Given the description of an element on the screen output the (x, y) to click on. 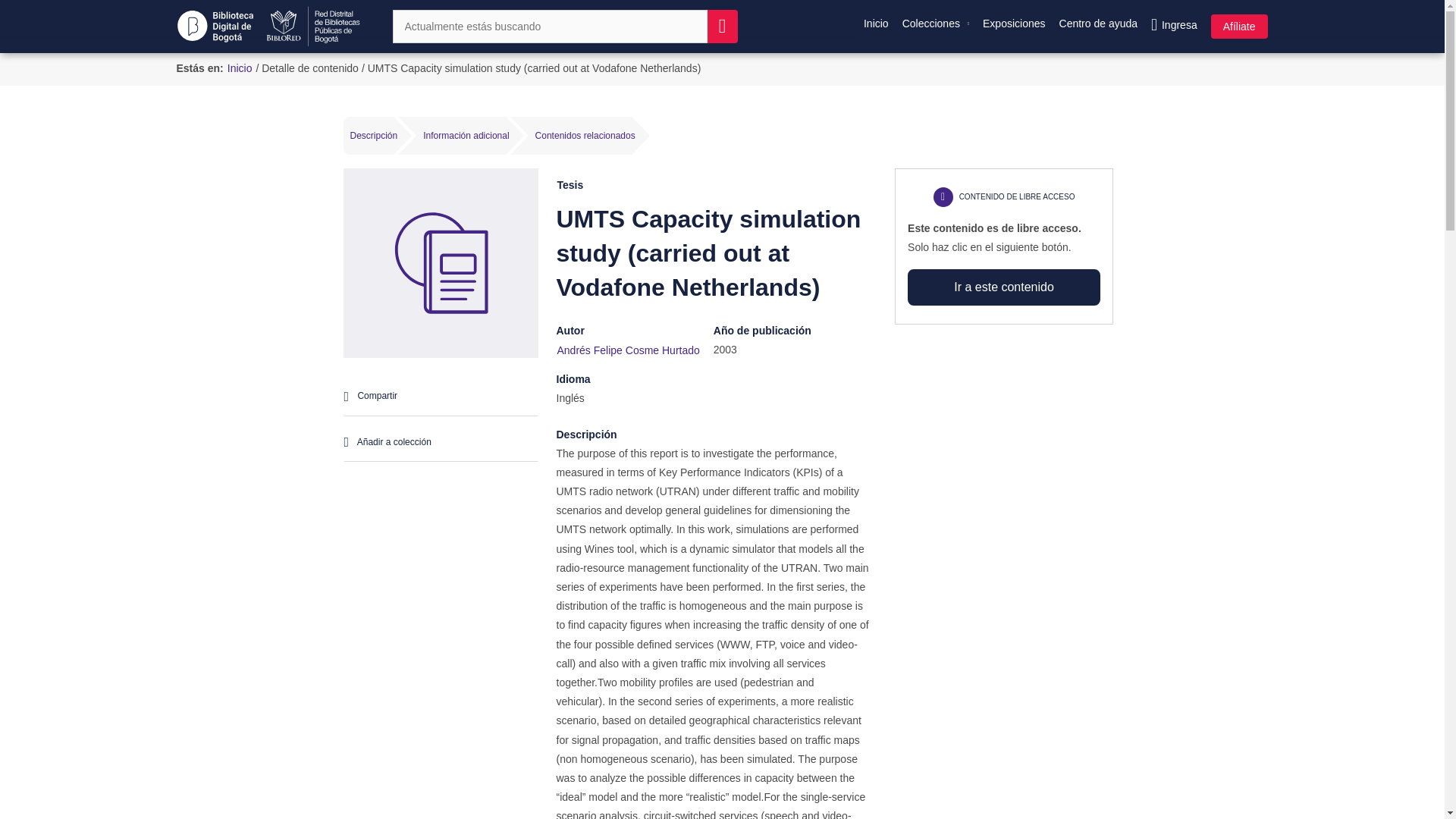
Exposiciones (1013, 20)
Ir a este contenido (1003, 287)
Afiliate a BibloRed (1236, 25)
Compartir (439, 395)
Inicio (240, 68)
Contenidos relacionados (585, 135)
Centro de ayuda (1098, 20)
Ingresa (1174, 25)
Inicio (876, 20)
